Given the description of an element on the screen output the (x, y) to click on. 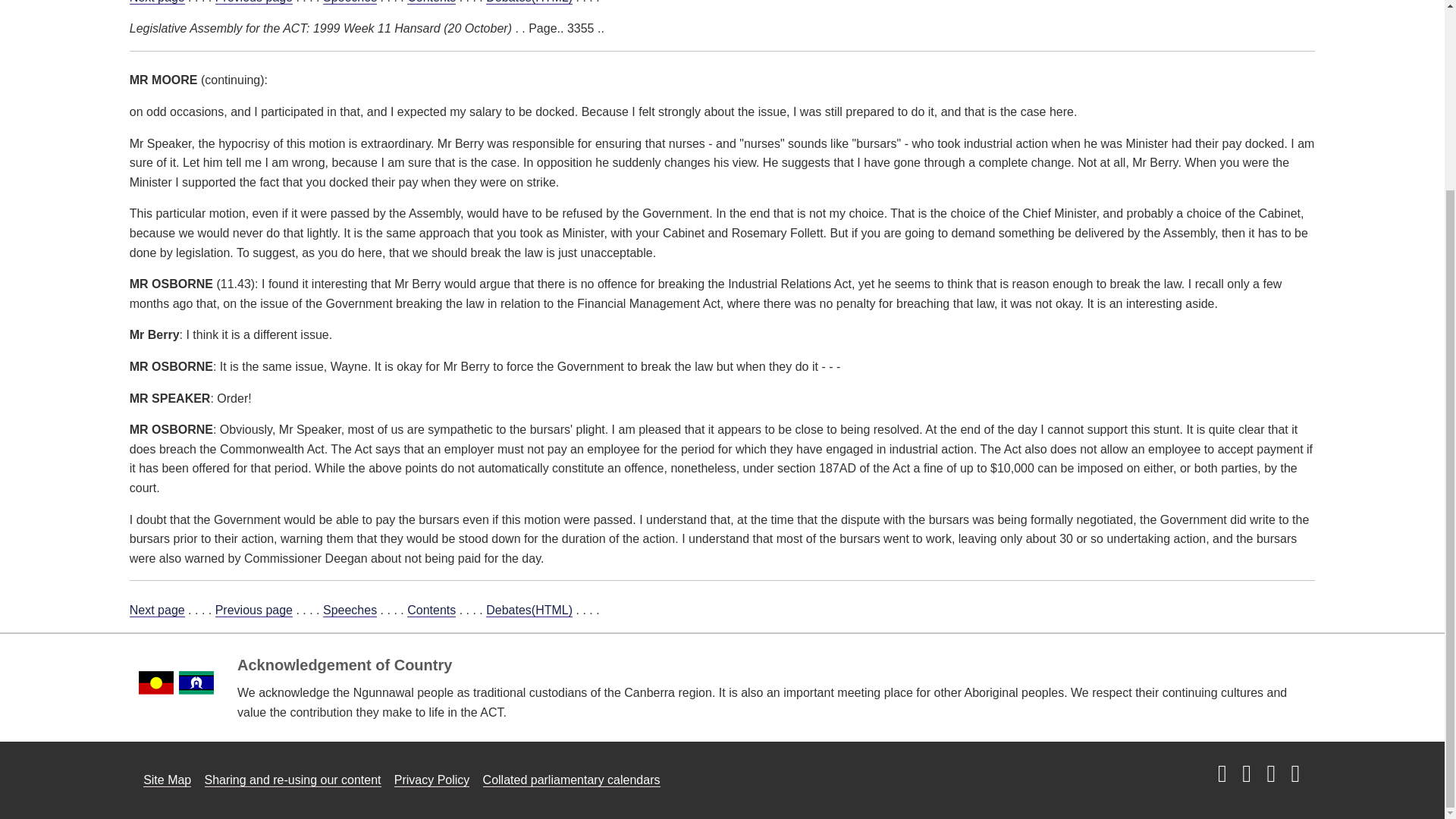
Site Map (166, 780)
Speeches (350, 610)
Next page (156, 610)
Contents (431, 610)
Link to Site Map (166, 780)
Sharing and re-using our content (293, 780)
Link to Privacy Policy (432, 780)
Privacy Policy (432, 780)
Next page (156, 2)
Collated parliamentary calendars (572, 780)
